Given the description of an element on the screen output the (x, y) to click on. 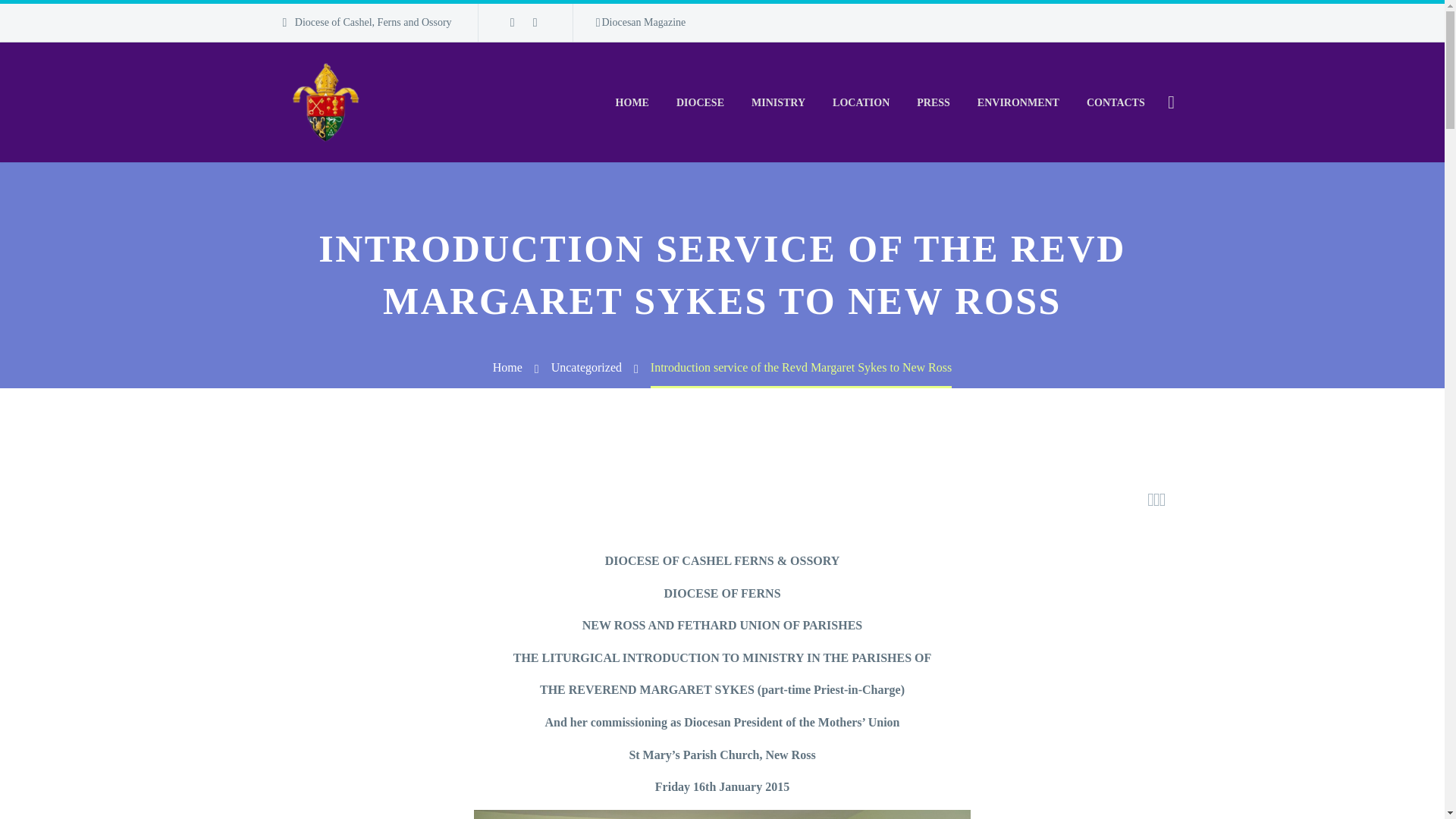
PRESS (932, 101)
LOCATION (861, 101)
Diocesan Magazine (640, 22)
YouTube (535, 22)
DIOCESE (700, 101)
HOME (632, 101)
Facebook (512, 22)
MINISTRY (777, 101)
